Given the description of an element on the screen output the (x, y) to click on. 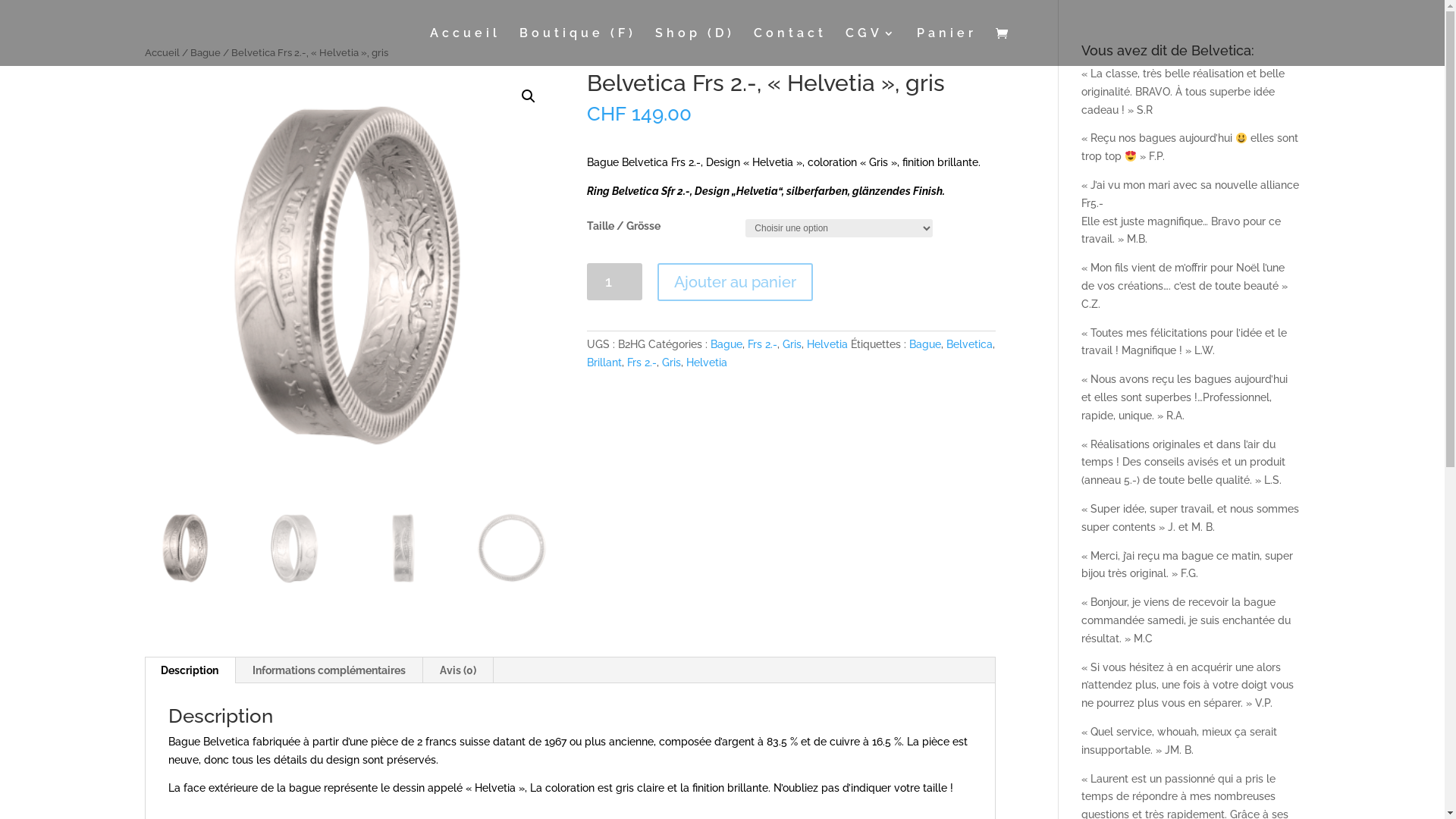
Gris Element type: text (671, 362)
Bague Element type: text (726, 344)
Gris Element type: text (791, 344)
Avis (0) Element type: text (457, 670)
Frs 2.- Element type: text (762, 344)
belvetica_2eb_c Element type: hover (756, 276)
belvetica_2eb_a Element type: hover (348, 276)
Boutique (F) Element type: text (576, 46)
Panier Element type: text (945, 46)
Description Element type: text (189, 670)
Brillant Element type: text (603, 362)
Helvetia Element type: text (826, 344)
Bague Element type: text (204, 52)
Frs 2.- Element type: text (641, 362)
Shop (D) Element type: text (694, 46)
Ajouter au panier Element type: text (734, 282)
Accueil Element type: text (464, 46)
Contact Element type: text (789, 46)
Belvetica Element type: text (969, 344)
Helvetia Element type: text (706, 362)
CGV Element type: text (870, 46)
Bague Element type: text (925, 344)
Accueil Element type: text (161, 52)
